Given the description of an element on the screen output the (x, y) to click on. 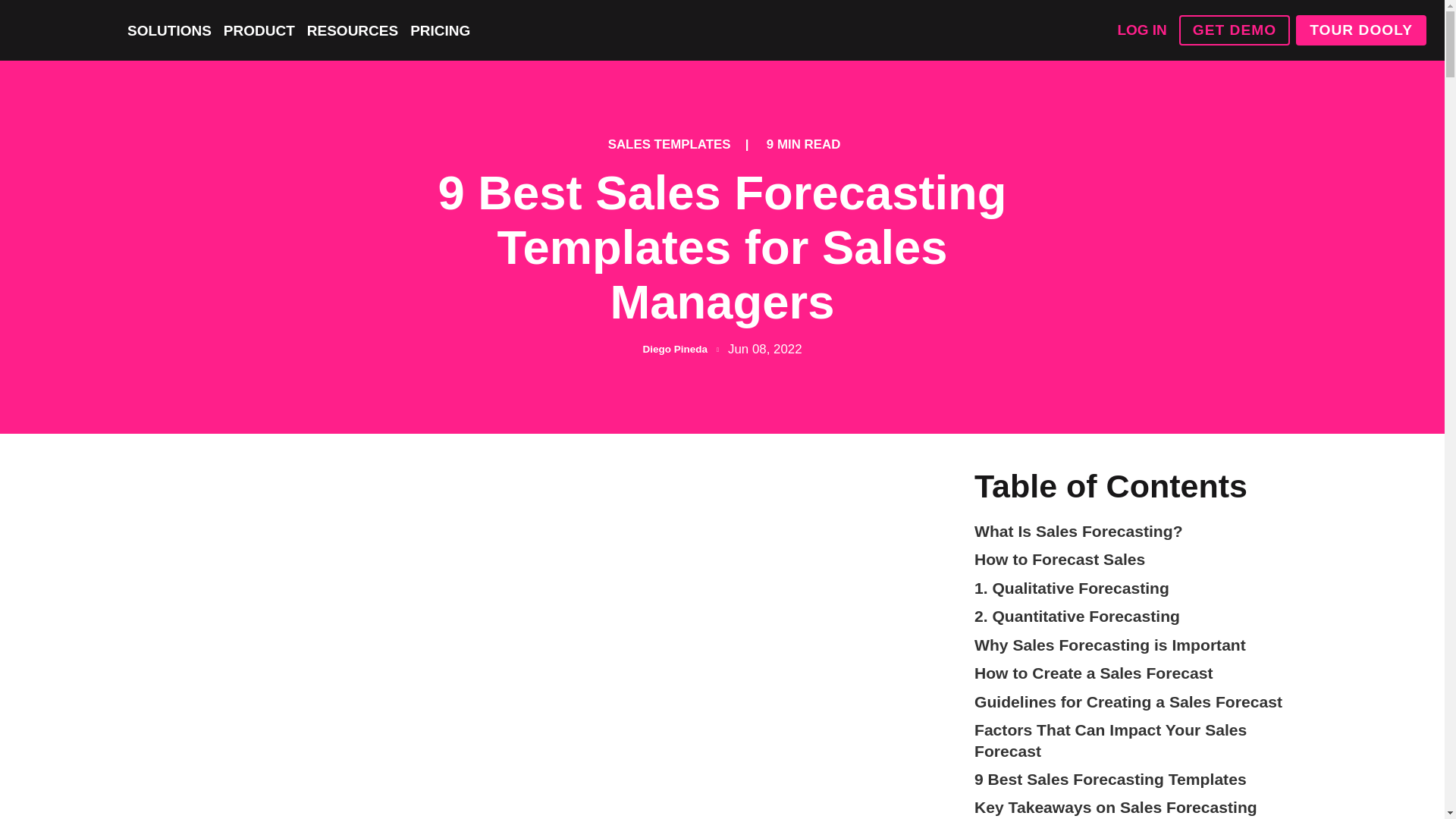
PRODUCT (259, 29)
SOLUTIONS (169, 29)
RESOURCES (352, 29)
PRICING (440, 29)
